Given the description of an element on the screen output the (x, y) to click on. 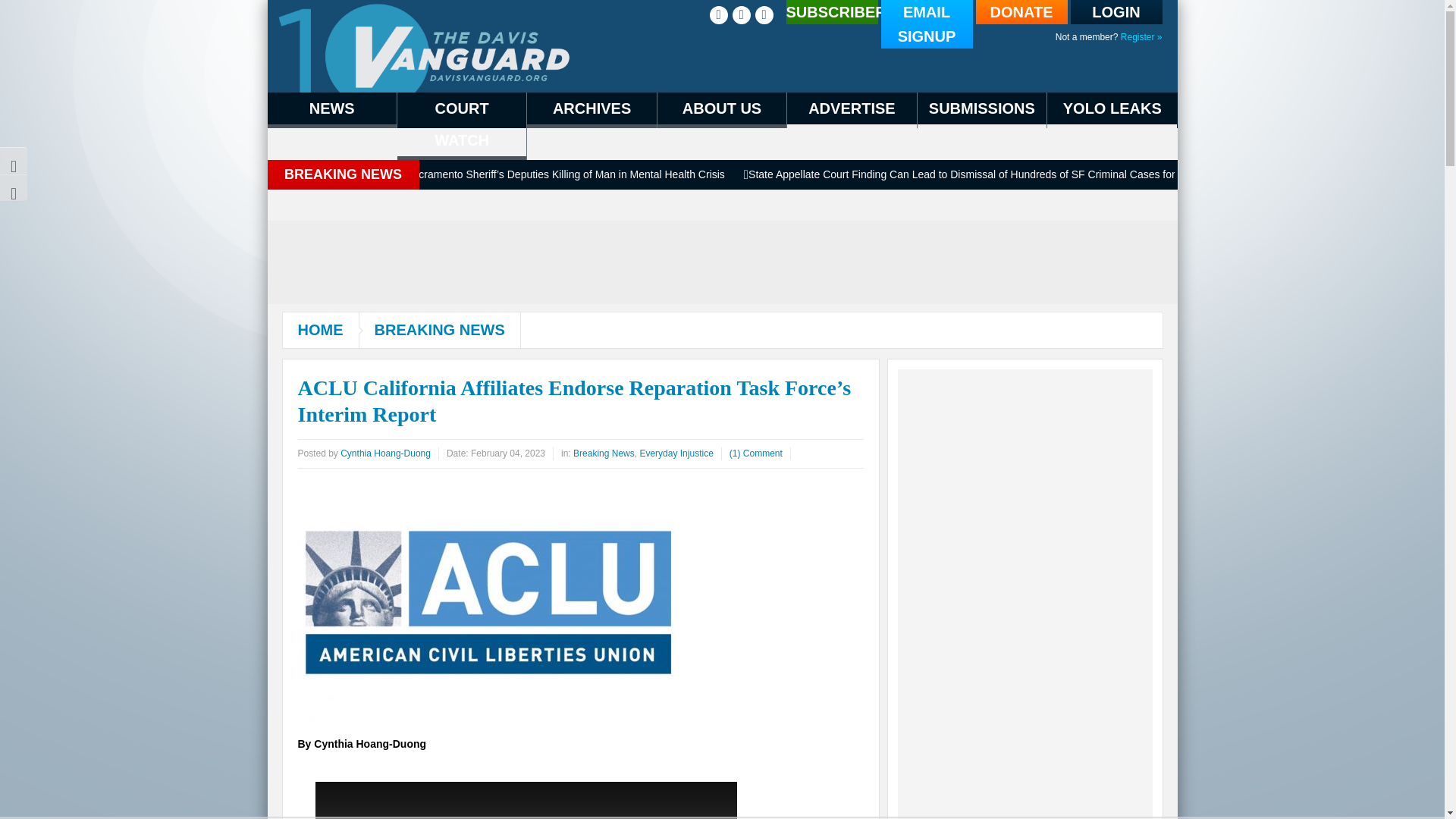
NEWS (331, 109)
EMAIL SIGNUP (926, 24)
SUBSCRIBERS (831, 12)
Toggle Font size (13, 187)
DONATE (1021, 12)
LOGIN (1115, 12)
Toggle High Contrast (13, 160)
